Given the description of an element on the screen output the (x, y) to click on. 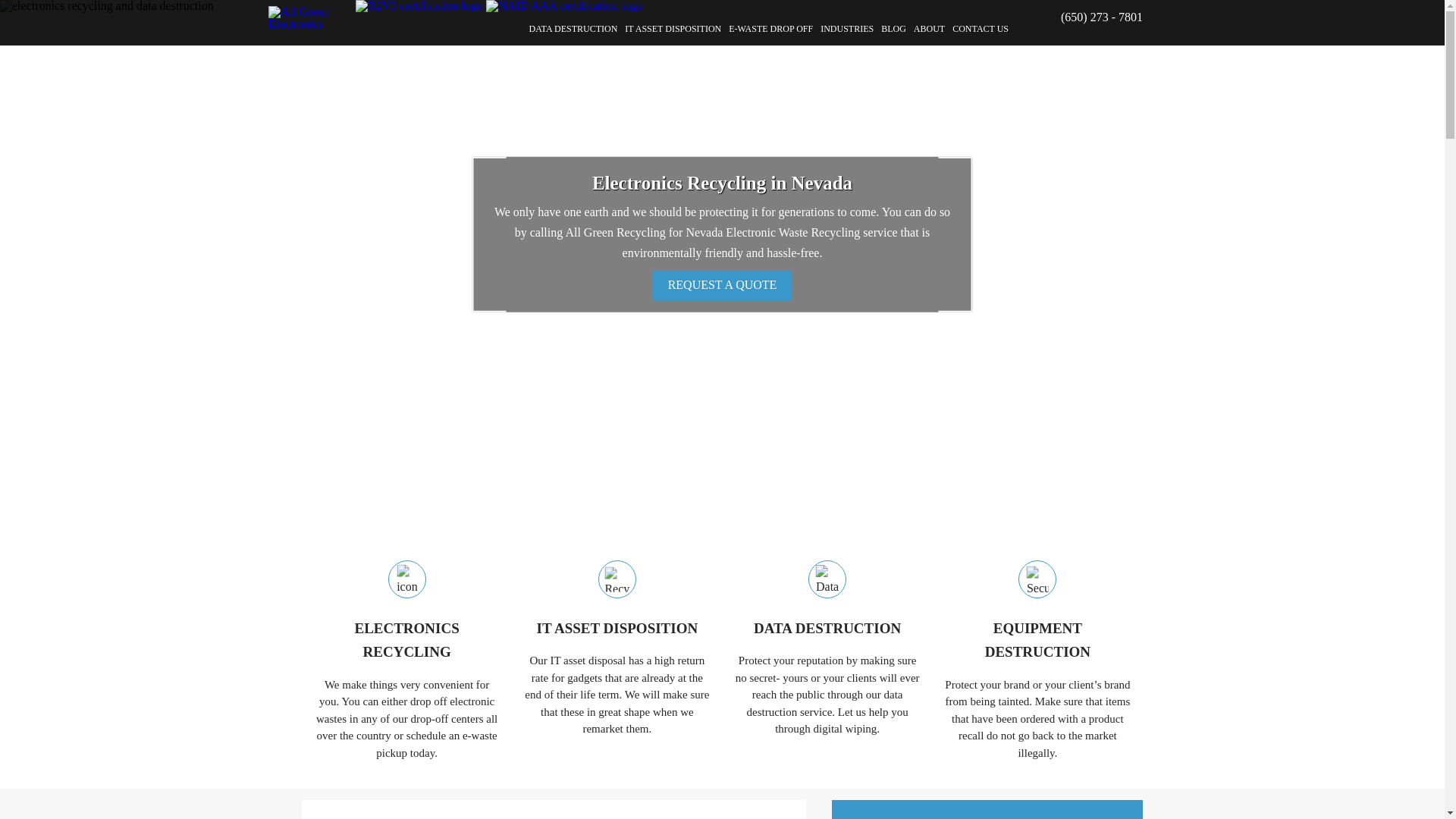
ELECTRONICS RECYCLING (406, 640)
DATA DESTRUCTION (573, 28)
DATA DESTRUCTION (827, 628)
CONTACT US (980, 28)
BLOG (893, 28)
E-WASTE DROP OFF (770, 28)
IT ASSET DISPOSITION (673, 28)
REQUEST A QUOTE (722, 286)
EQUIPMENT DESTRUCTION (1037, 640)
ABOUT (929, 28)
